Given the description of an element on the screen output the (x, y) to click on. 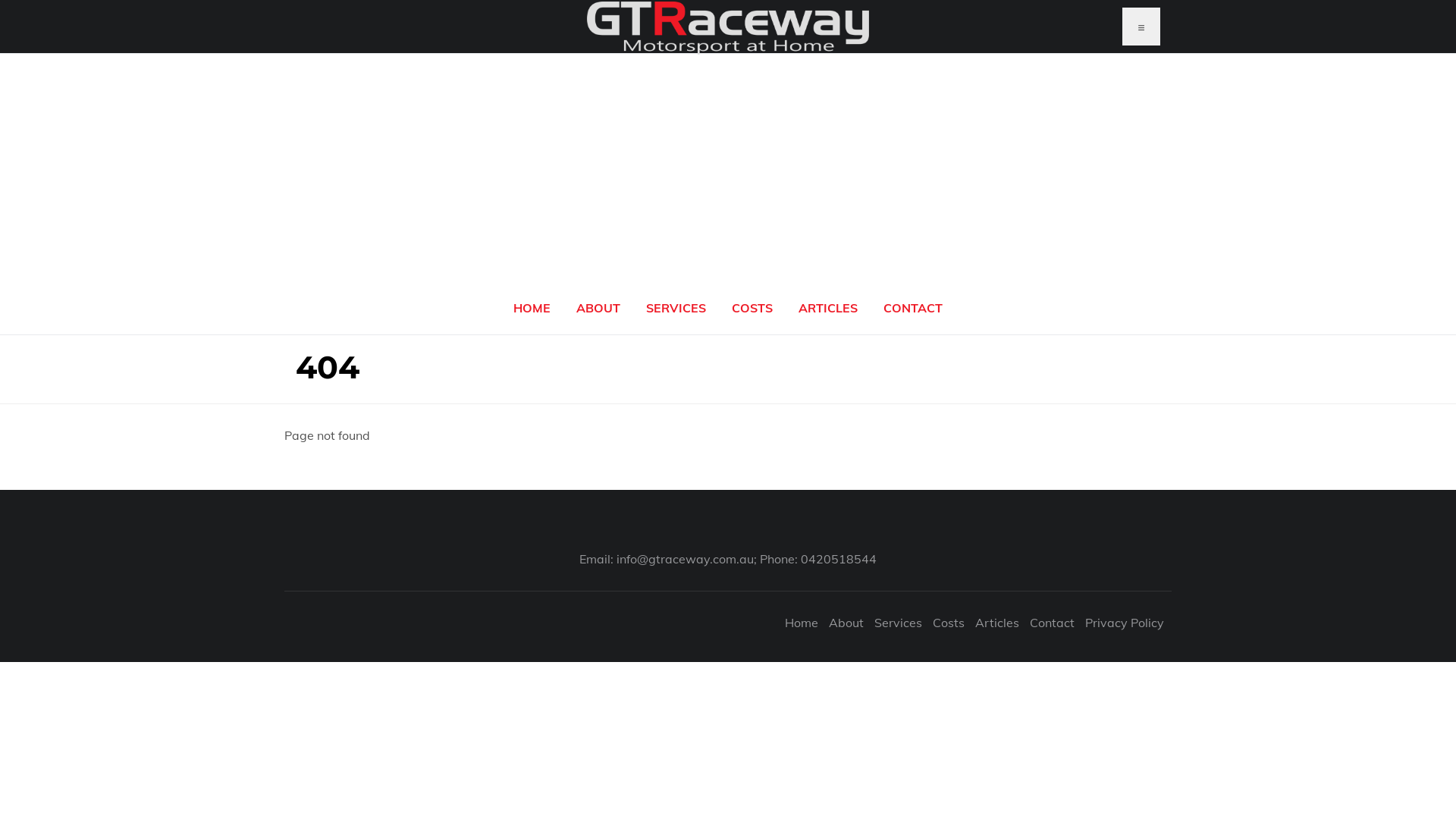
ABOUT Element type: text (597, 307)
Home Element type: text (801, 622)
Privacy Policy Element type: text (1124, 622)
HOME Element type: text (531, 307)
CONTACT Element type: text (912, 307)
COSTS Element type: text (752, 307)
Articles Element type: text (997, 622)
Contact Element type: text (1051, 622)
ARTICLES Element type: text (828, 307)
Advertisement Element type: hover (728, 167)
SERVICES Element type: text (675, 307)
Services Element type: text (898, 622)
Costs Element type: text (948, 622)
About Element type: text (845, 622)
